Given the description of an element on the screen output the (x, y) to click on. 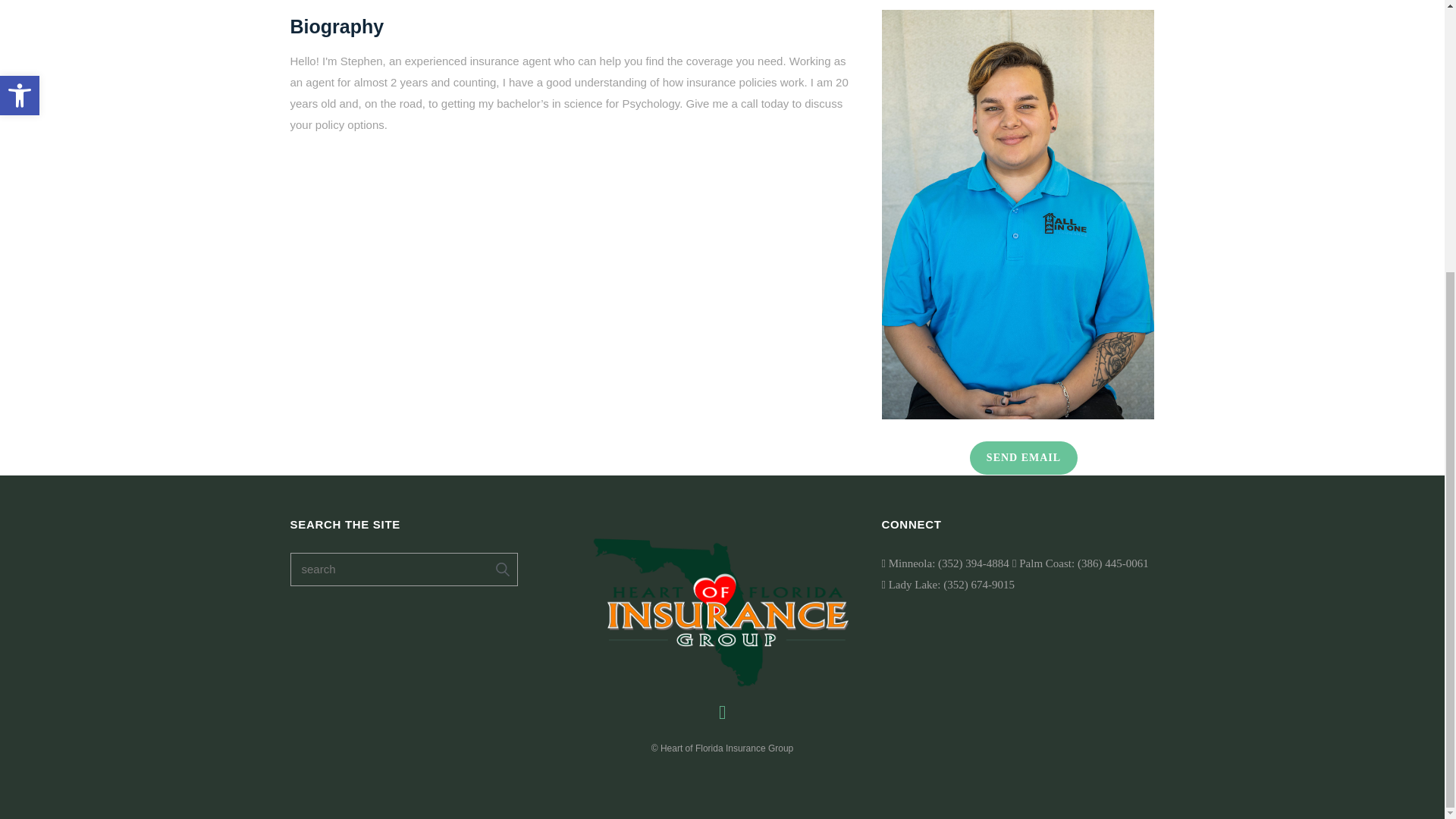
SEND EMAIL (1023, 458)
